Given the description of an element on the screen output the (x, y) to click on. 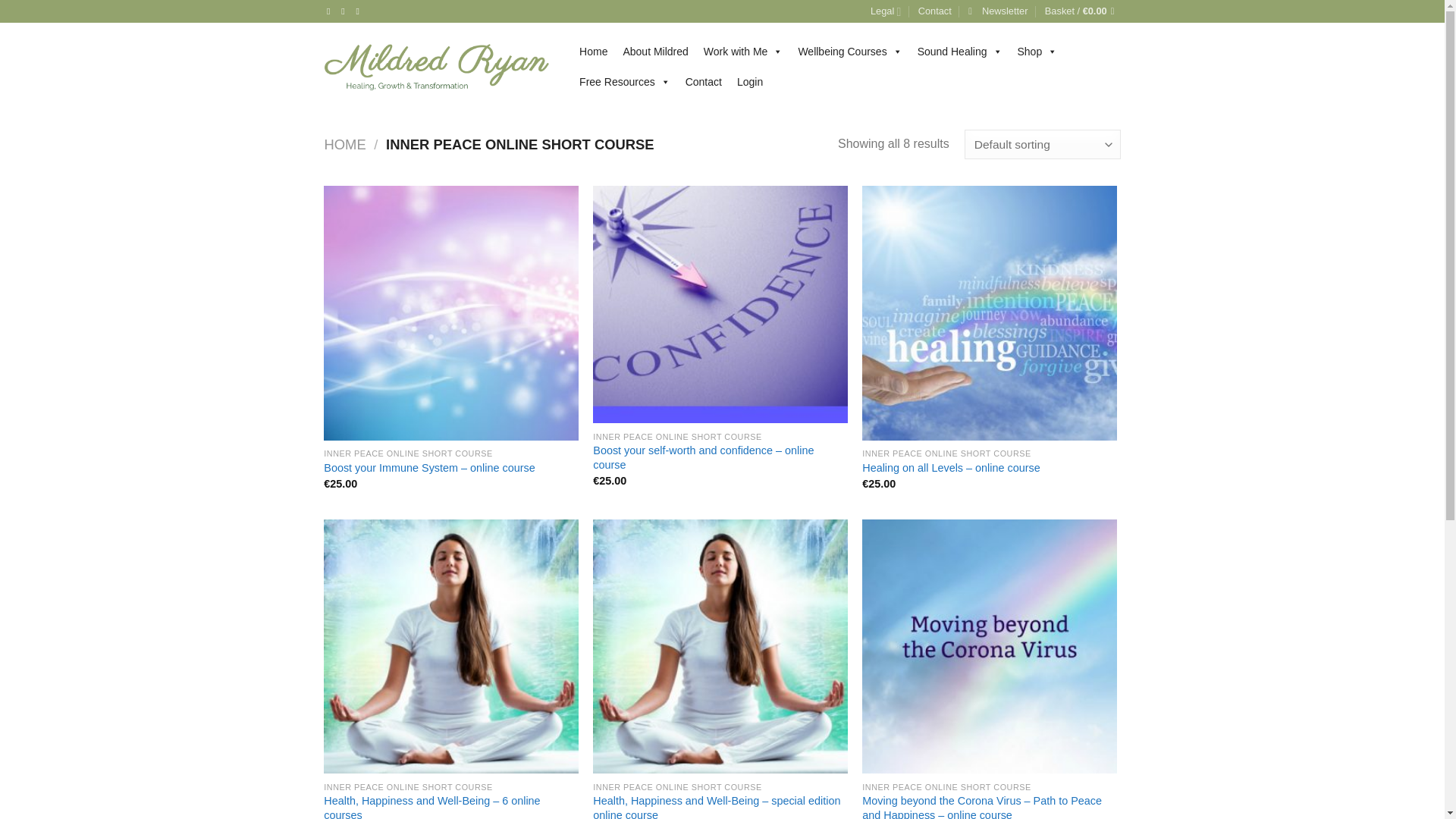
Legal (885, 11)
Wellbeing Courses (849, 51)
Basket (1083, 11)
About Mildred (654, 51)
Sign up for Mildred Ryan's Newsletter (997, 11)
Home (593, 51)
Sound Healing (960, 51)
Newsletter (997, 11)
Work with Me (742, 51)
Free Resources (625, 81)
Shop (1037, 51)
Contact (935, 11)
